Given the description of an element on the screen output the (x, y) to click on. 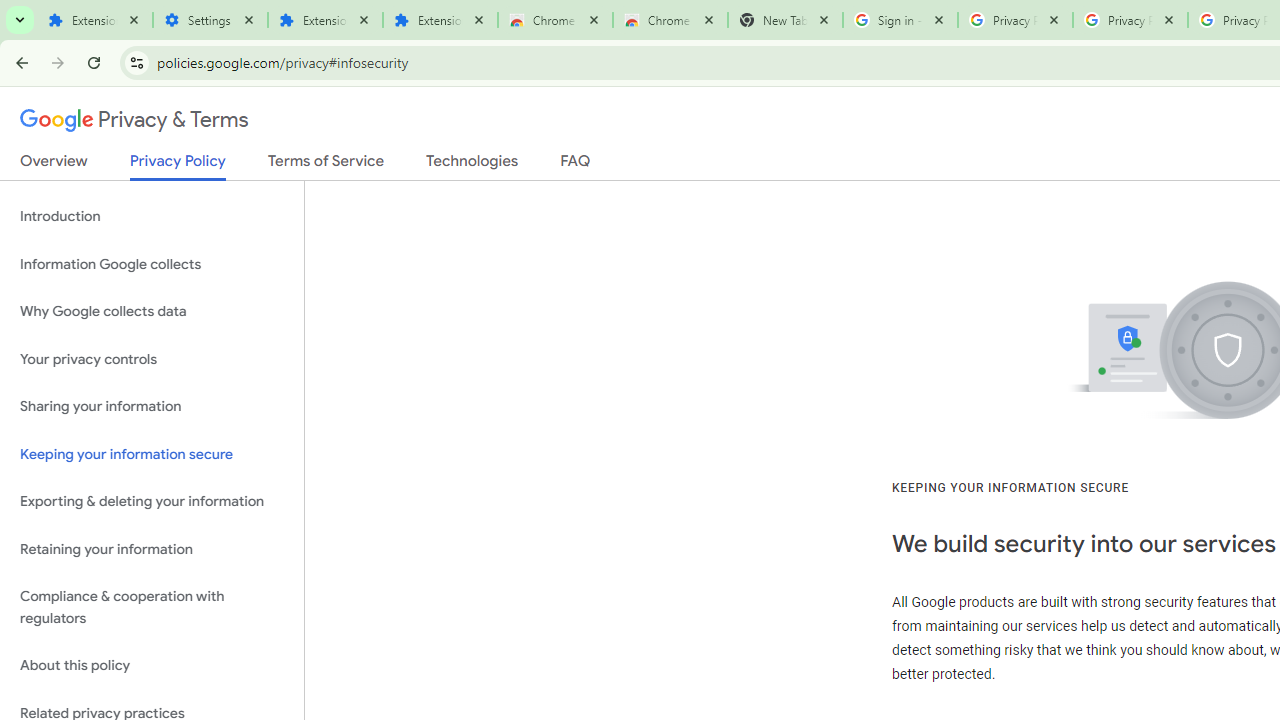
Extensions (324, 20)
Compliance & cooperation with regulators (152, 607)
Sharing your information (152, 407)
Keeping your information secure (152, 453)
Retaining your information (152, 548)
Sign in - Google Accounts (900, 20)
Information Google collects (152, 263)
Exporting & deleting your information (152, 502)
Chrome Web Store (555, 20)
